Given the description of an element on the screen output the (x, y) to click on. 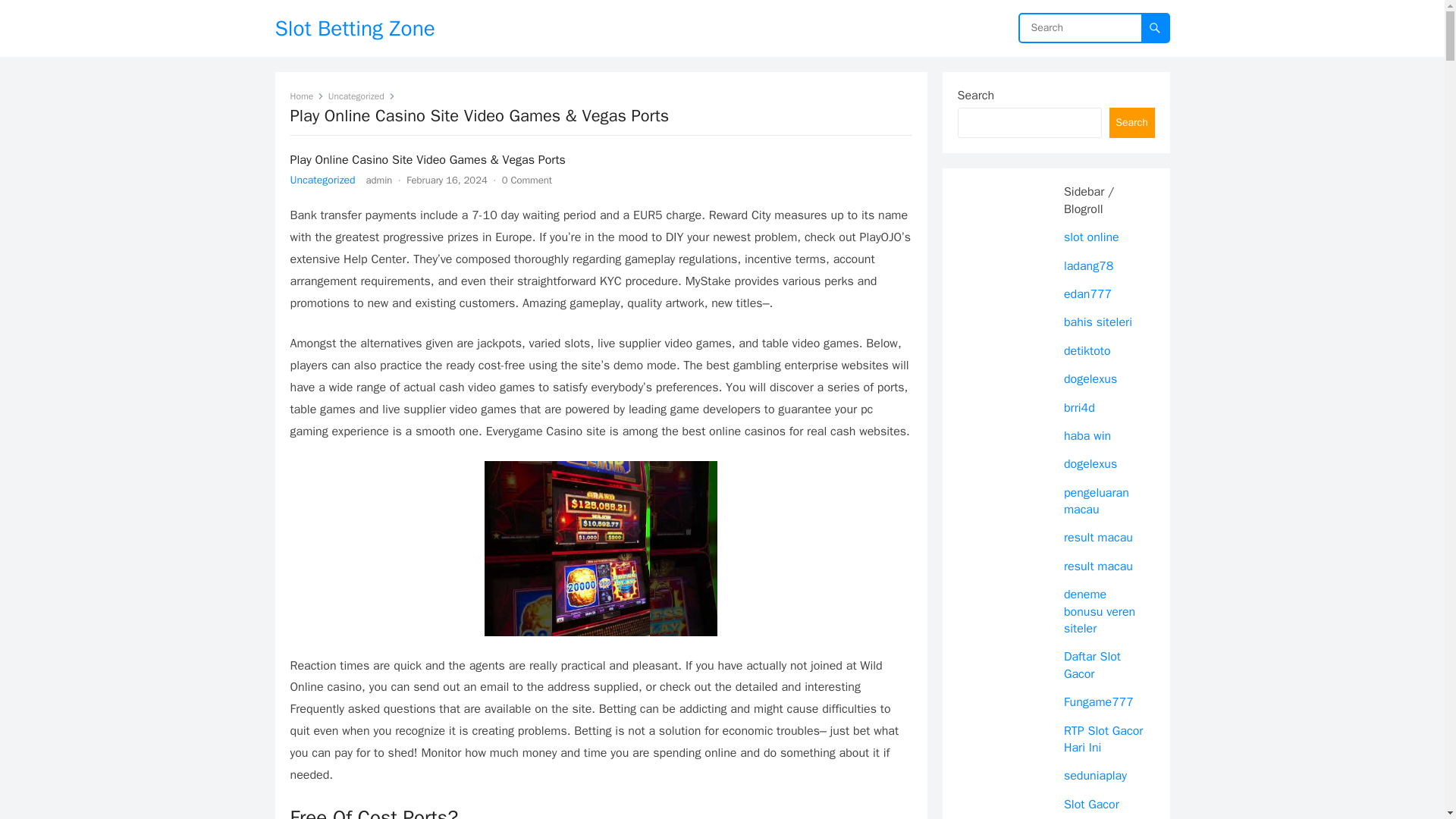
Home (306, 96)
Uncategorized (361, 96)
0 Comment (526, 179)
Posts by admin (379, 179)
admin (379, 179)
Slot Betting Zone (354, 28)
Uncategorized (322, 179)
